Given the description of an element on the screen output the (x, y) to click on. 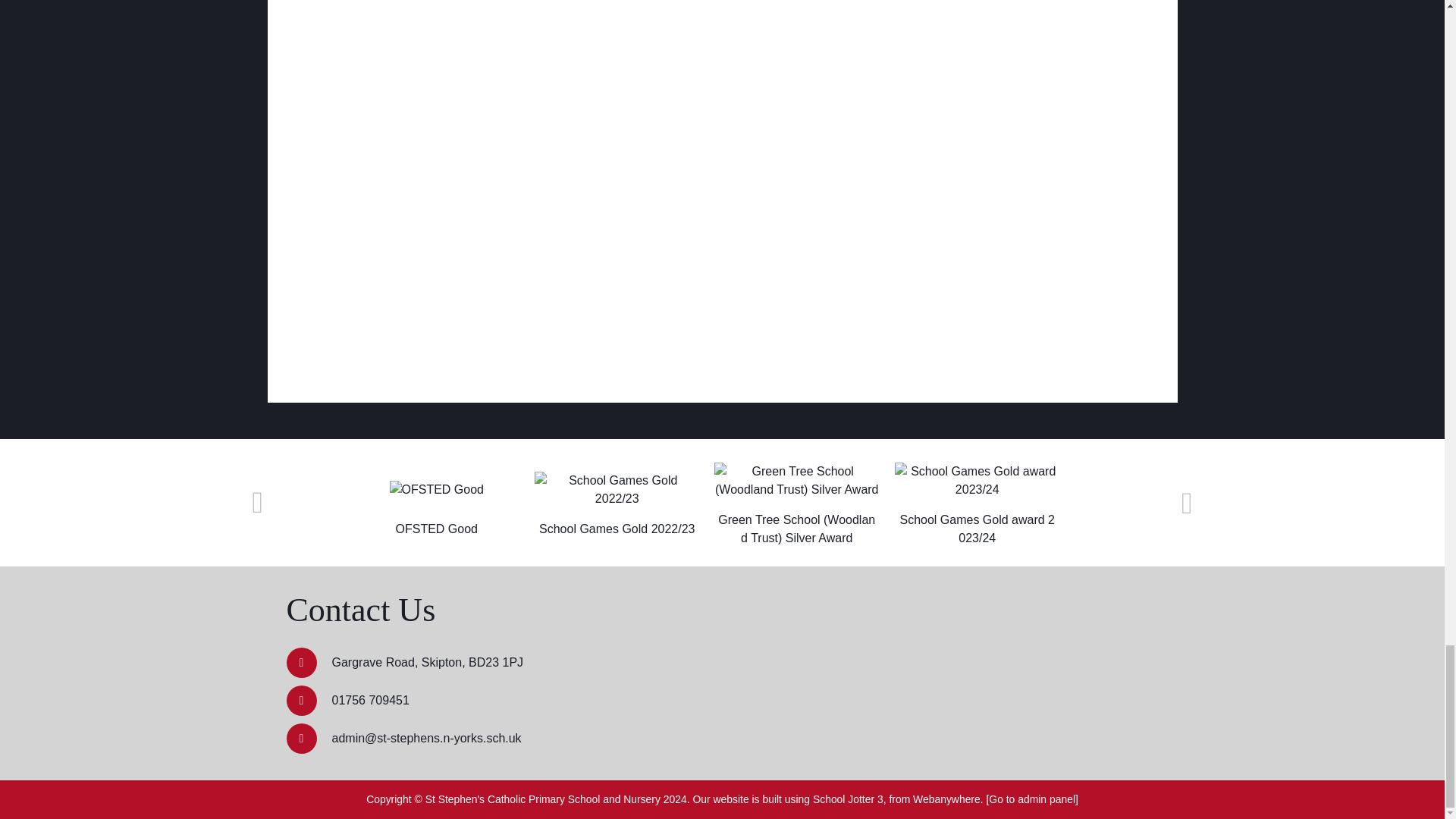
OFSTED Good (436, 489)
